Given the description of an element on the screen output the (x, y) to click on. 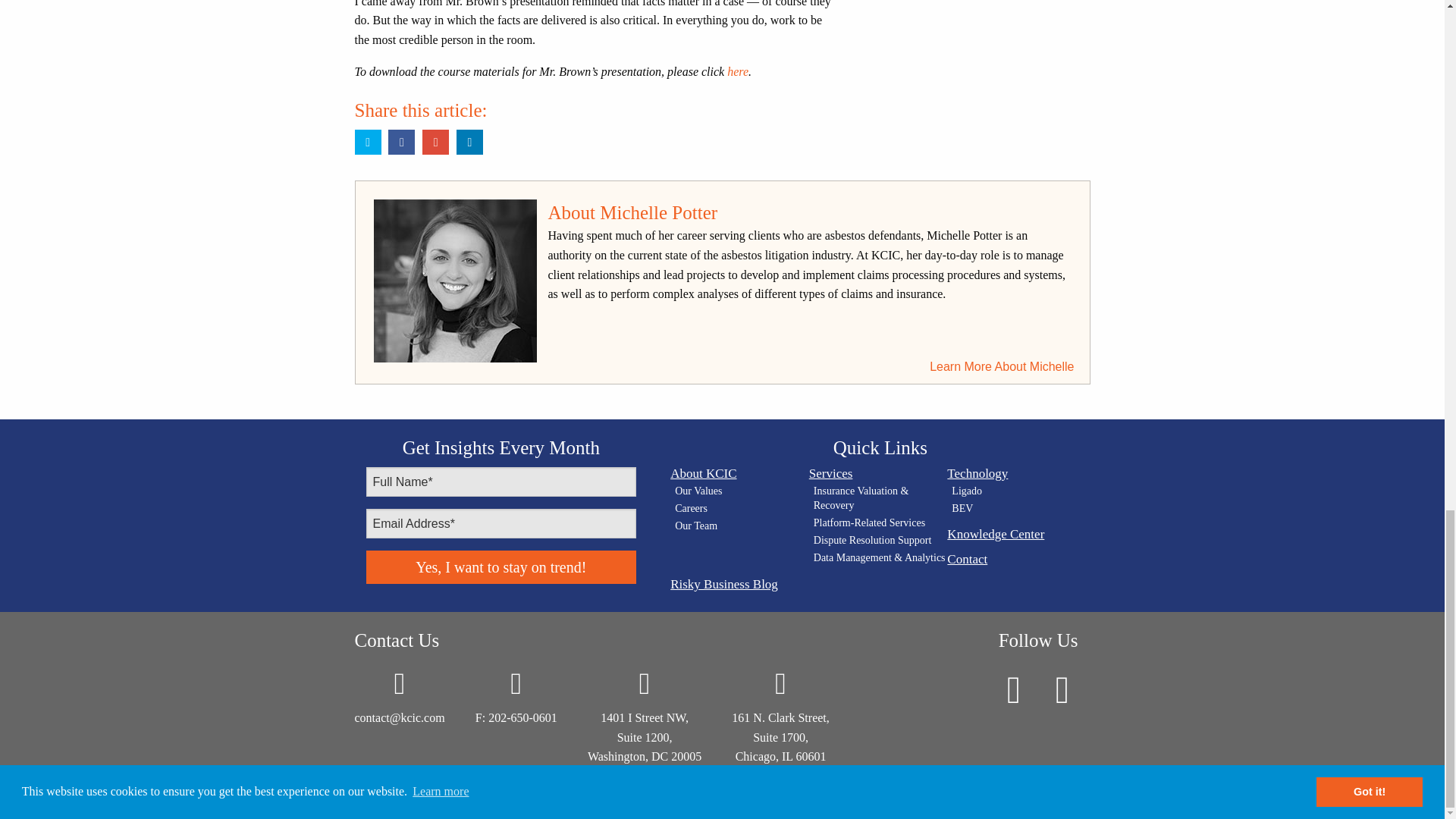
here (737, 71)
Our Team (742, 526)
Services (878, 472)
Yes, I want to stay on trend! (500, 566)
Learn More About Michelle (1002, 366)
Careers (742, 509)
Platform-Related Services (880, 523)
About KCIC (739, 472)
Dispute Resolution Support (880, 540)
Our Values (742, 491)
Technology (1016, 472)
Yes, I want to stay on trend! (500, 566)
